Given the description of an element on the screen output the (x, y) to click on. 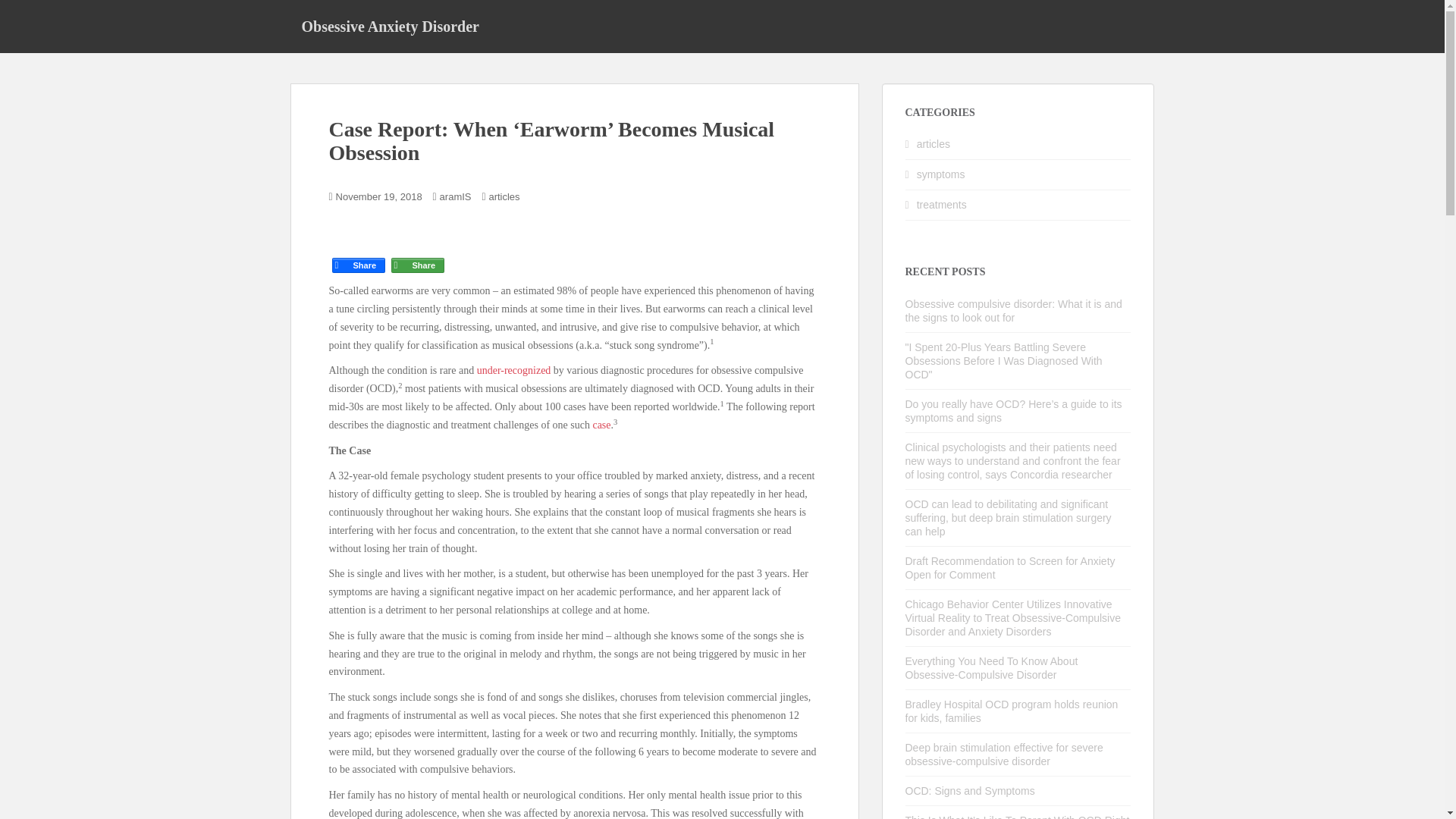
aramIS (455, 196)
Obsessive Anxiety Disorder (389, 26)
Facebook (358, 252)
case (601, 424)
symptoms (941, 174)
treatments (941, 204)
Draft Recommendation to Screen for Anxiety Open for Comment (1010, 567)
